Given the description of an element on the screen output the (x, y) to click on. 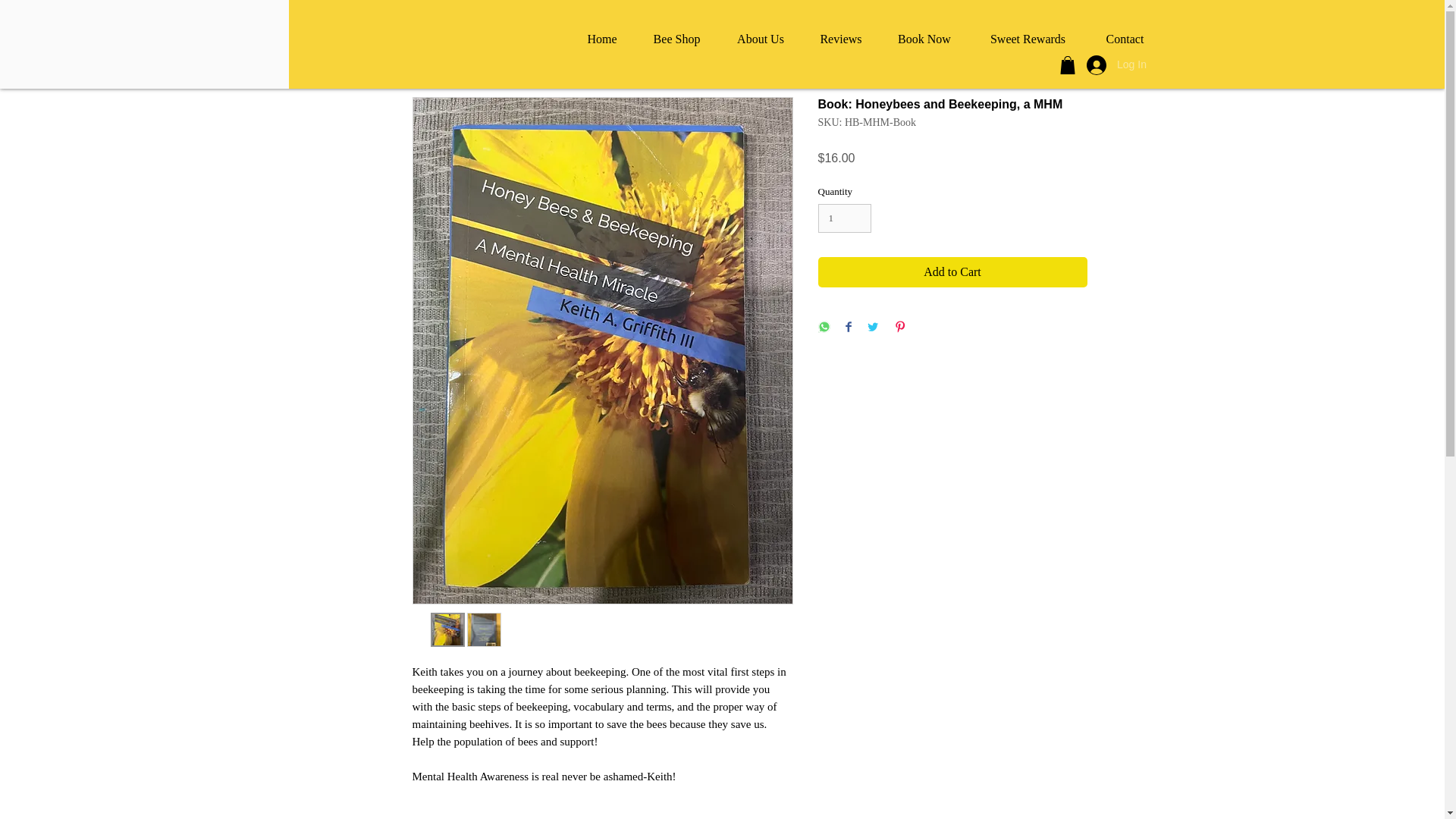
1 (843, 217)
Home (601, 39)
Log In (1113, 63)
Reviews (840, 39)
About Us (760, 39)
Add to Cart (951, 272)
Contact (1124, 39)
Bee Shop (676, 39)
Sweet Rewards (1027, 39)
